Given the description of an element on the screen output the (x, y) to click on. 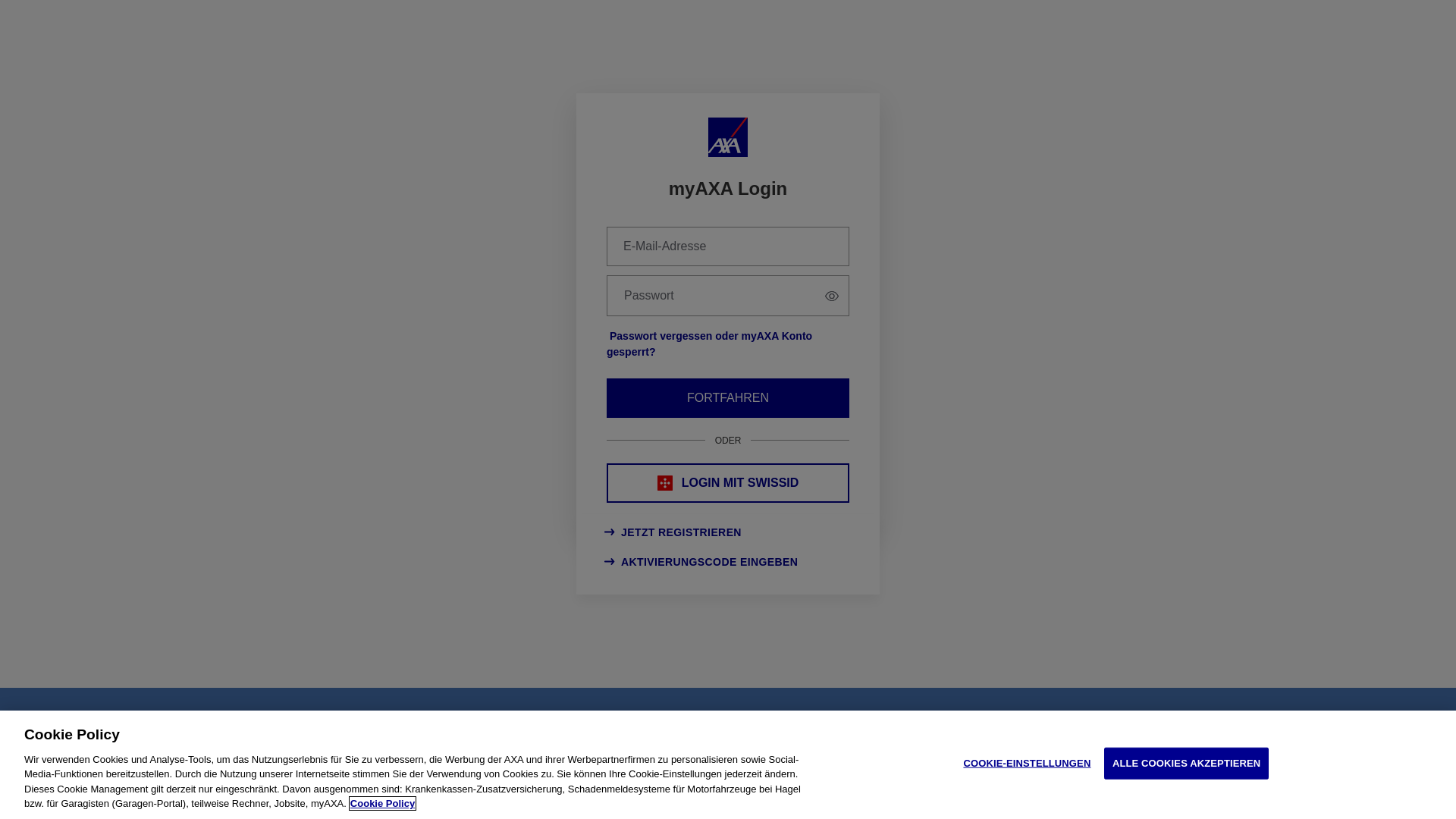
default Element type: text (646, 234)
Passwort anzeigen Element type: text (831, 295)
FORTFAHREN Element type: text (727, 397)
Datenschutz / Cookie Policy Element type: text (456, 798)
ALLE COOKIES AKZEPTIEREN Element type: text (1186, 763)
Cookie Policy Element type: text (382, 803)
COOKIE-EINSTELLUNGEN Element type: text (1026, 763)
FAQ Element type: text (305, 745)
Passwort vergessen oder myAXA Konto gesperrt? Element type: text (709, 343)
Nutzungshinweise Element type: text (338, 798)
LOGIN MIT SWISSID Element type: text (727, 482)
